Given the description of an element on the screen output the (x, y) to click on. 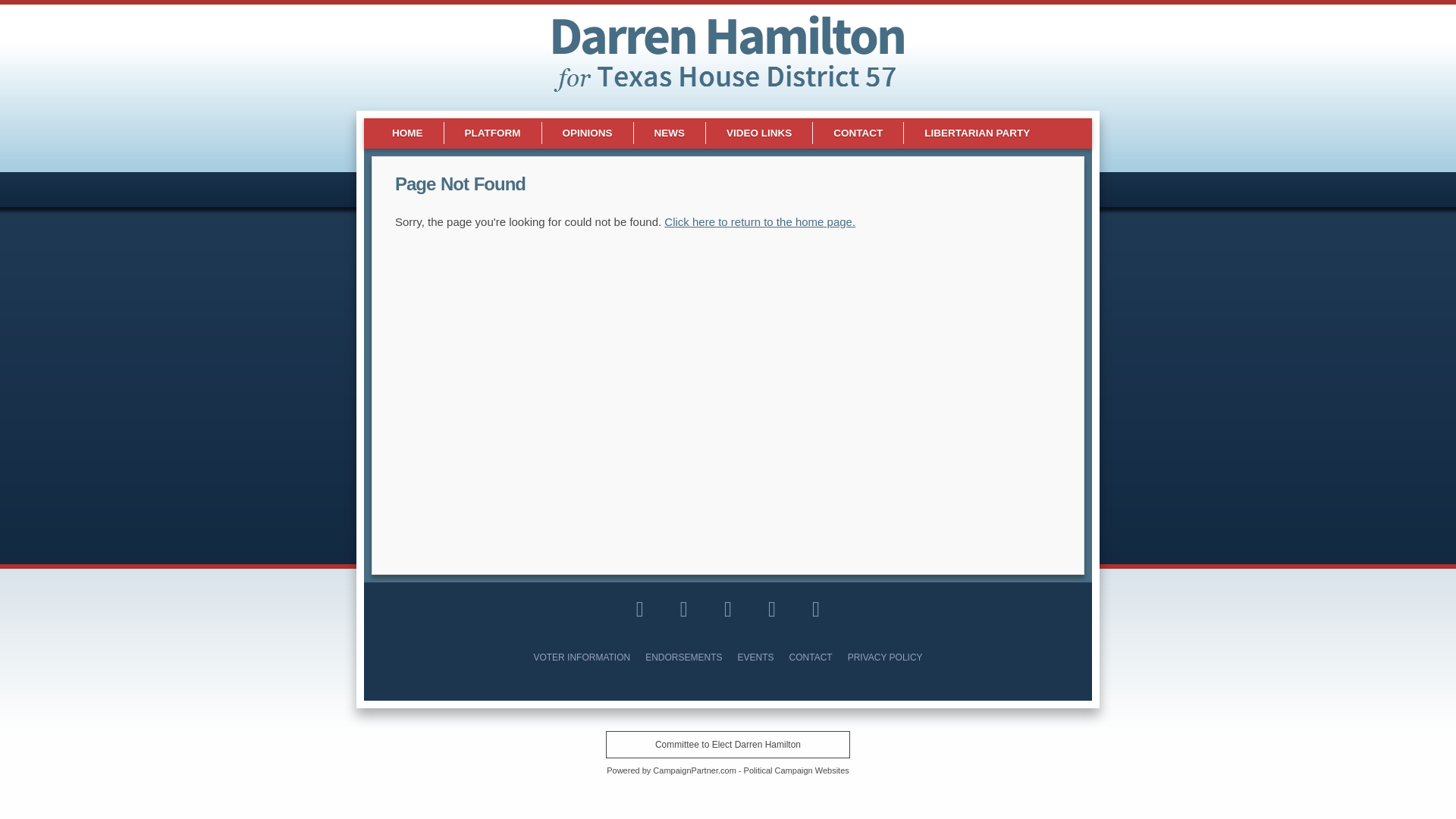
NEWS (669, 133)
Follow us on TikTok (815, 608)
VIDEO LINKS (759, 133)
Watch our Videos on YouTube (727, 608)
OPINIONS (587, 133)
Click here to return to the home page. (759, 221)
HOME (407, 133)
Join us on LinkedIn (772, 608)
LIBERTARIAN PARTY (976, 133)
Join us on Facebook (639, 608)
Follow us on Twitter (683, 608)
CONTACT (858, 133)
PLATFORM (492, 133)
